Given the description of an element on the screen output the (x, y) to click on. 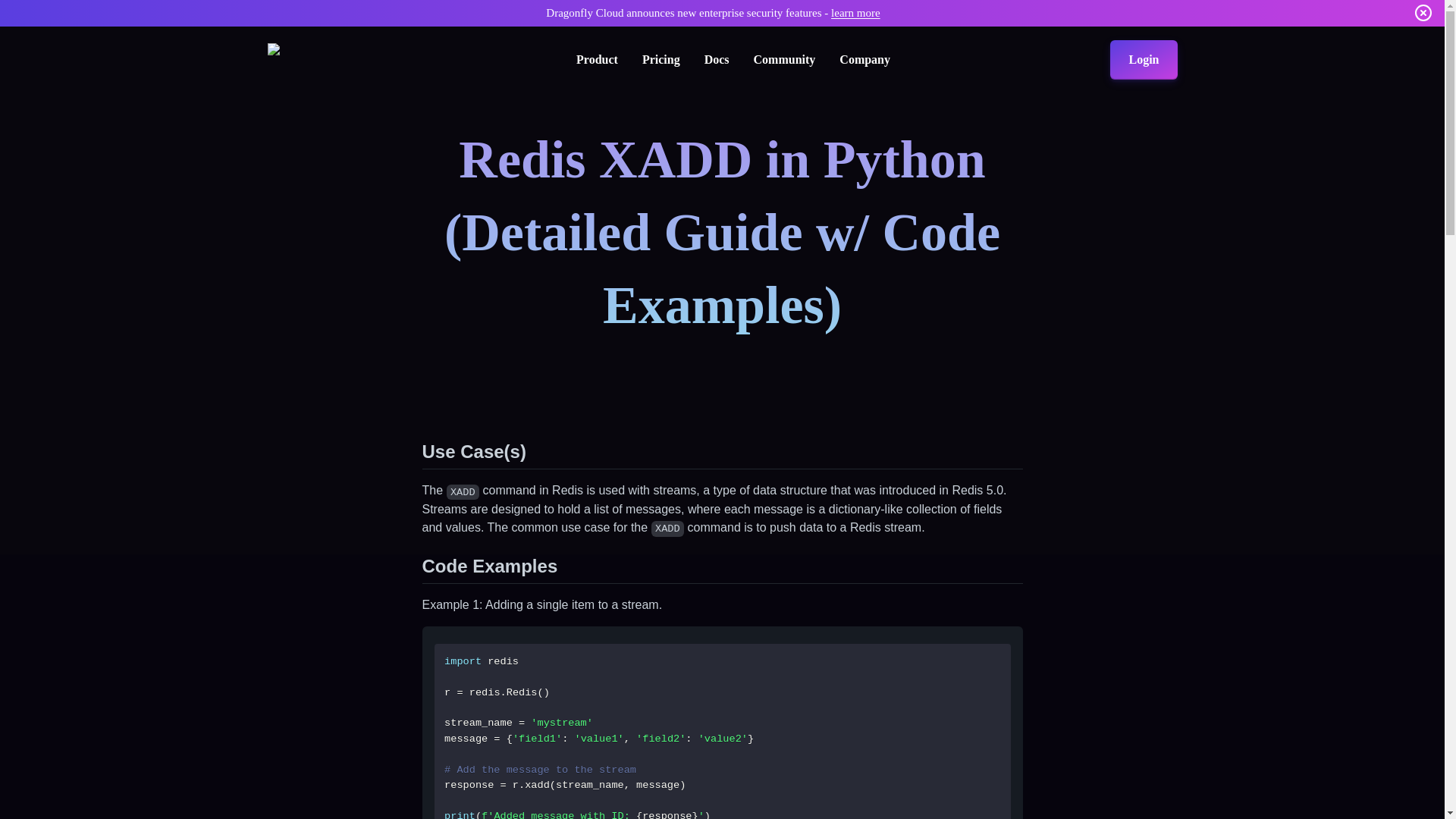
Company (864, 59)
Login (1142, 59)
Pricing (660, 59)
Community (784, 59)
learn more (855, 12)
Product (596, 59)
